Given the description of an element on the screen output the (x, y) to click on. 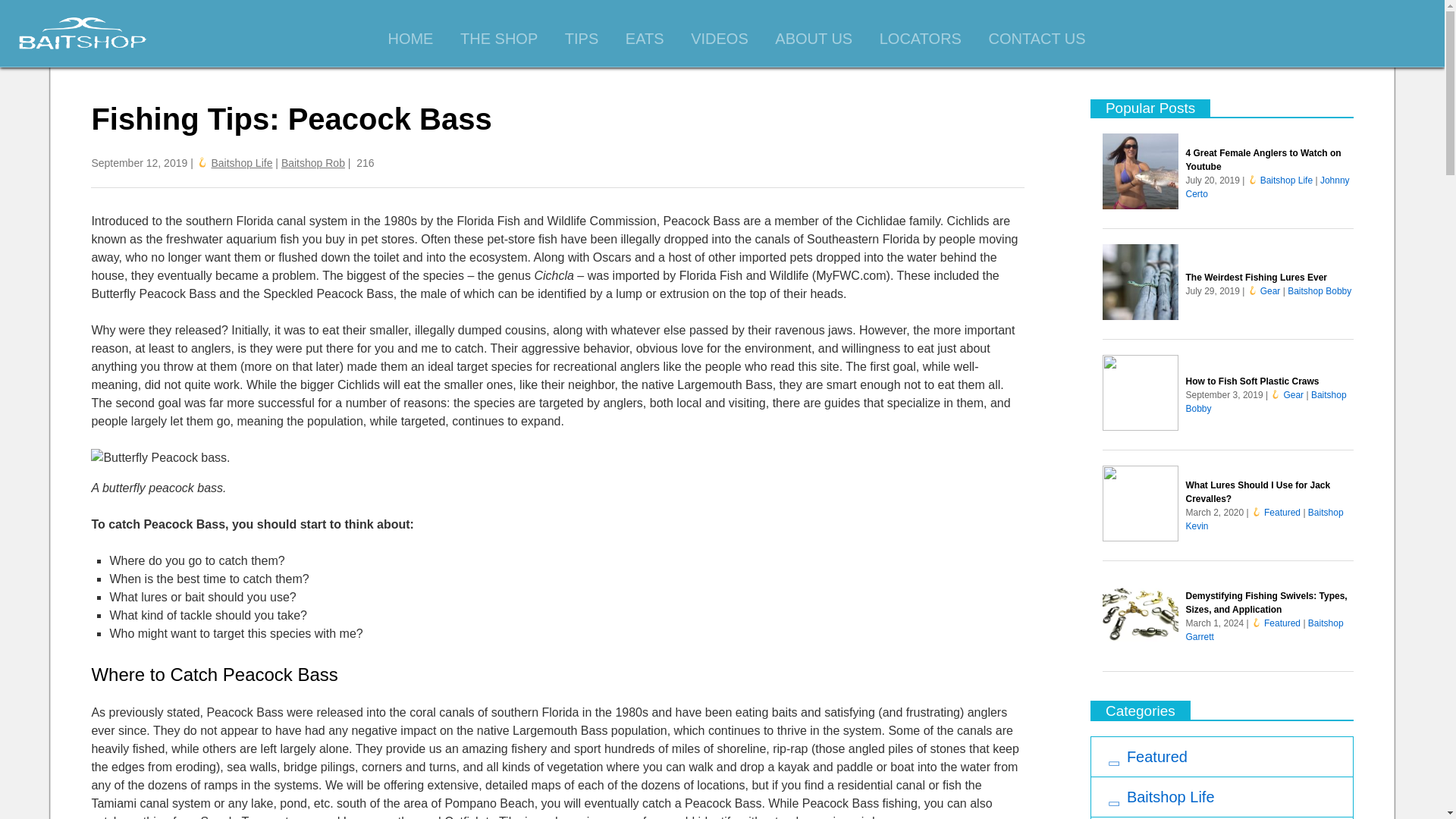
VIDEOS (719, 38)
EATS (644, 38)
Baitshop Rob (313, 162)
View all posts by Baitshop Kevin (1264, 518)
THE SHOP (498, 38)
View all posts by Baitshop Rob (313, 162)
LOCATORS (919, 38)
View all posts by Baitshop Bobby (1266, 401)
View all posts by Baitshop Bobby (1319, 290)
CONTACT US (1036, 38)
View all posts by Baitshop Garrett (1264, 629)
Baitshop.com - Tight Lines For All! (82, 33)
ABOUT US (812, 38)
Baitshop Life (241, 162)
View all posts by Johnny Certo (1267, 186)
